Given the description of an element on the screen output the (x, y) to click on. 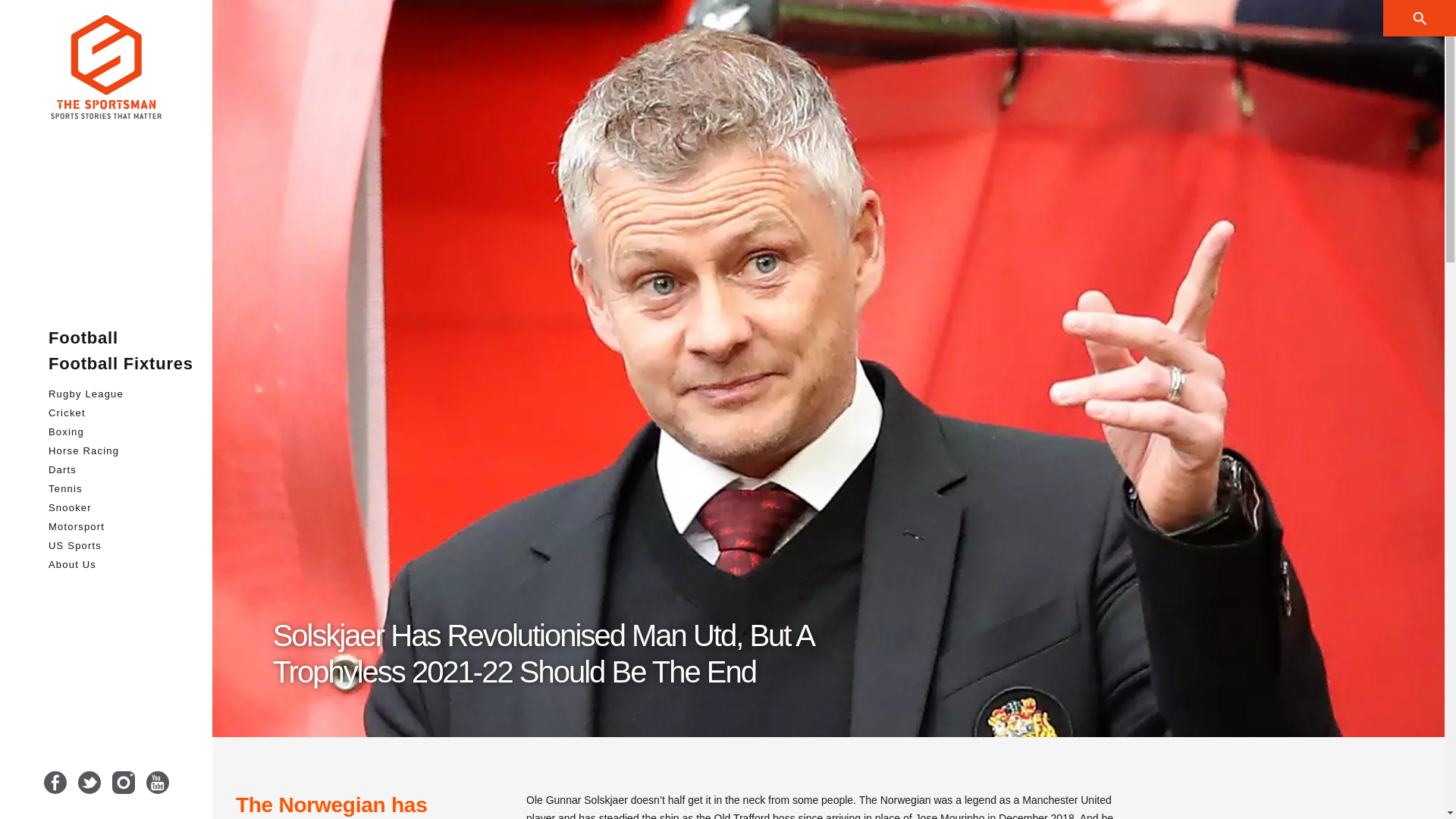
Snooker (120, 511)
Football (120, 342)
Football Fixtures (120, 368)
Darts (120, 474)
About Us (120, 568)
Cricket (120, 416)
Follow Us On Twitter (88, 782)
Horse Racing (120, 455)
Boxing (120, 435)
US Sports (120, 549)
Motorsport (120, 530)
Tennis (120, 493)
Rugby League (120, 398)
Follow Us On Youtube (156, 782)
Follow Us On Instagram (123, 782)
